Given the description of an element on the screen output the (x, y) to click on. 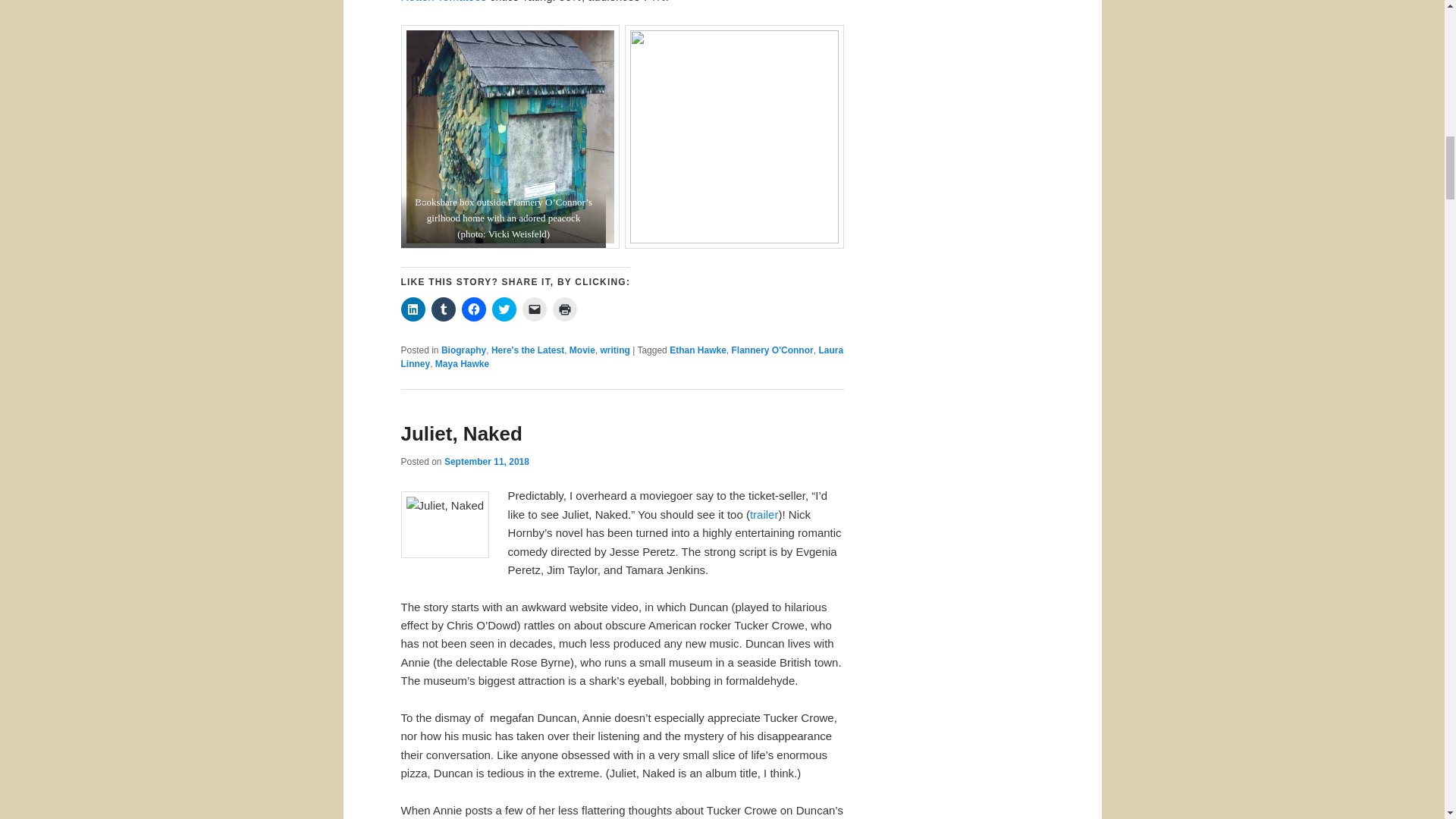
Movie (582, 349)
Click to print (563, 309)
Ethan Hawke (697, 349)
Rotten Tomatoes (443, 1)
Click to share on Tumblr (442, 309)
Click to share on Twitter (503, 309)
trailer (763, 513)
Biography (463, 349)
writing (614, 349)
Juliet, Naked (460, 433)
Click to share on LinkedIn (412, 309)
Maya Hawke (462, 363)
Laura Linney (621, 356)
Click to email a link to a friend (533, 309)
Flannery O'Connor (771, 349)
